Given the description of an element on the screen output the (x, y) to click on. 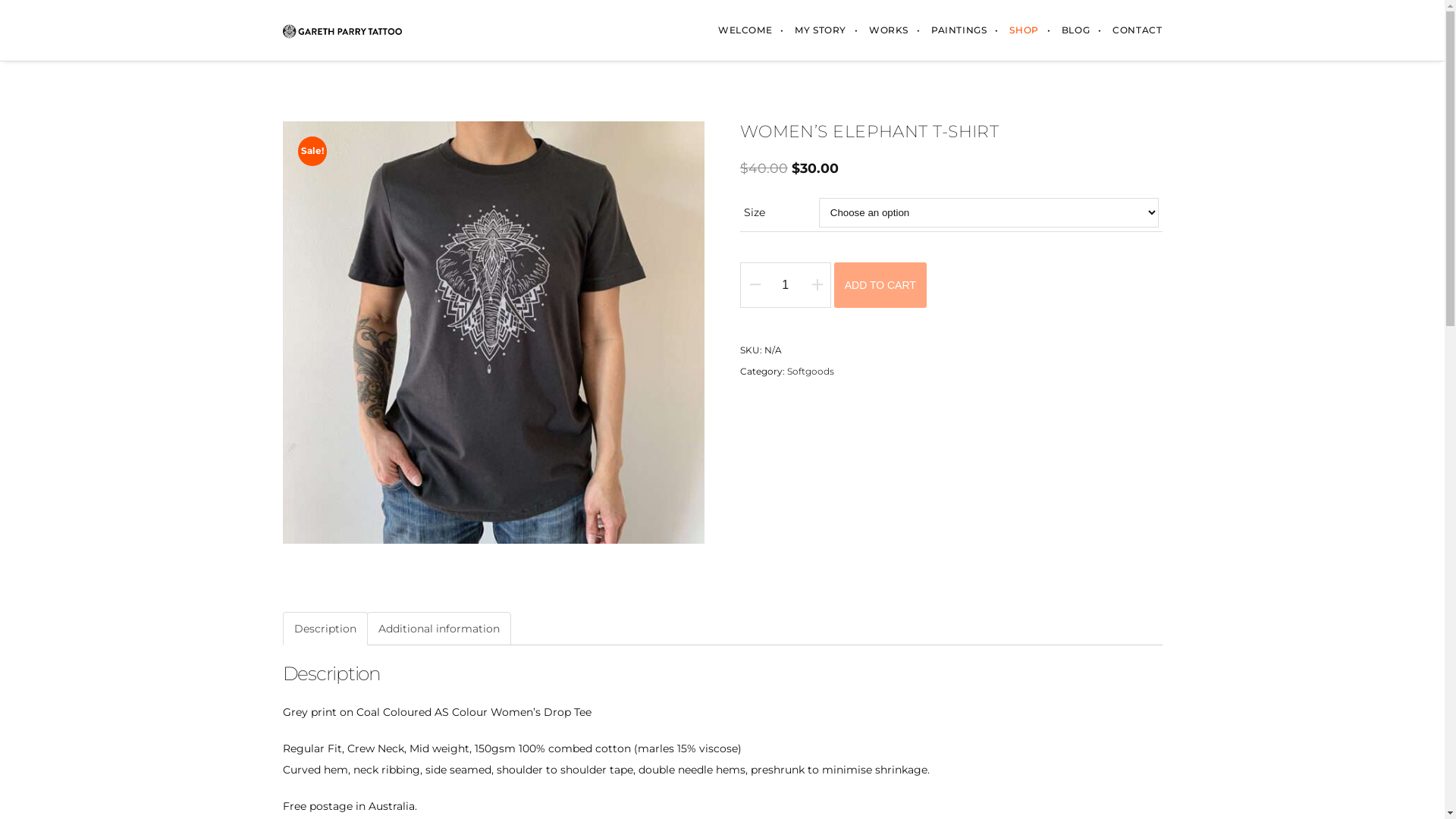
WELCOME Element type: text (744, 30)
IMG_6510 Element type: hover (493, 332)
CONTACT Element type: text (1131, 30)
WORKS Element type: text (888, 30)
Softgoods Element type: text (810, 370)
BLOG Element type: text (1075, 30)
MY STORY Element type: text (820, 30)
Description Element type: text (325, 628)
Qty Element type: hover (785, 284)
PAINTINGS Element type: text (958, 30)
SHOP Element type: text (1023, 30)
ADD TO CART Element type: text (880, 284)
Additional information Element type: text (437, 628)
